Given the description of an element on the screen output the (x, y) to click on. 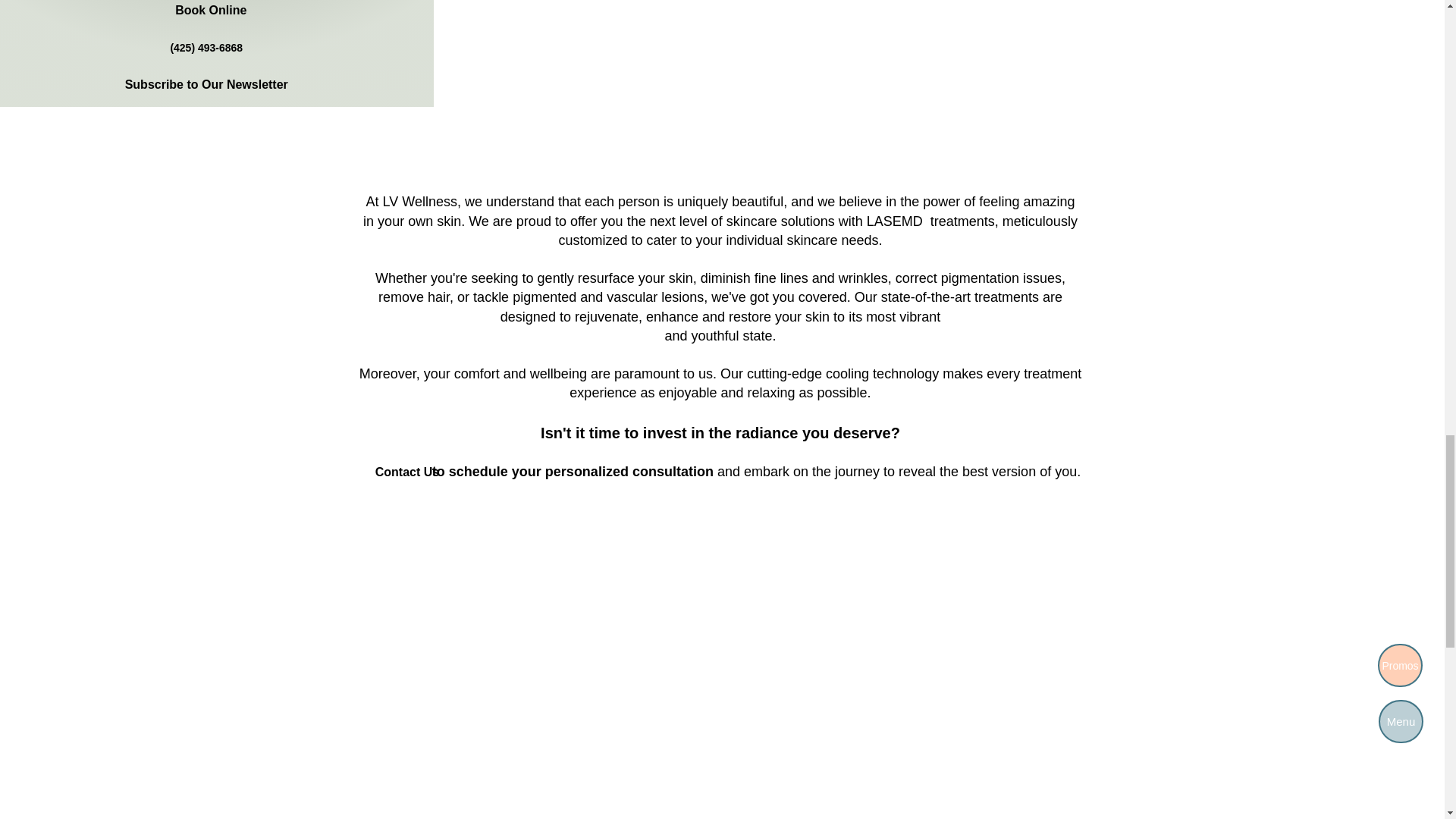
Subscribe to Our Newsletter (205, 85)
Contact Us (407, 472)
Book Online (210, 12)
